Given the description of an element on the screen output the (x, y) to click on. 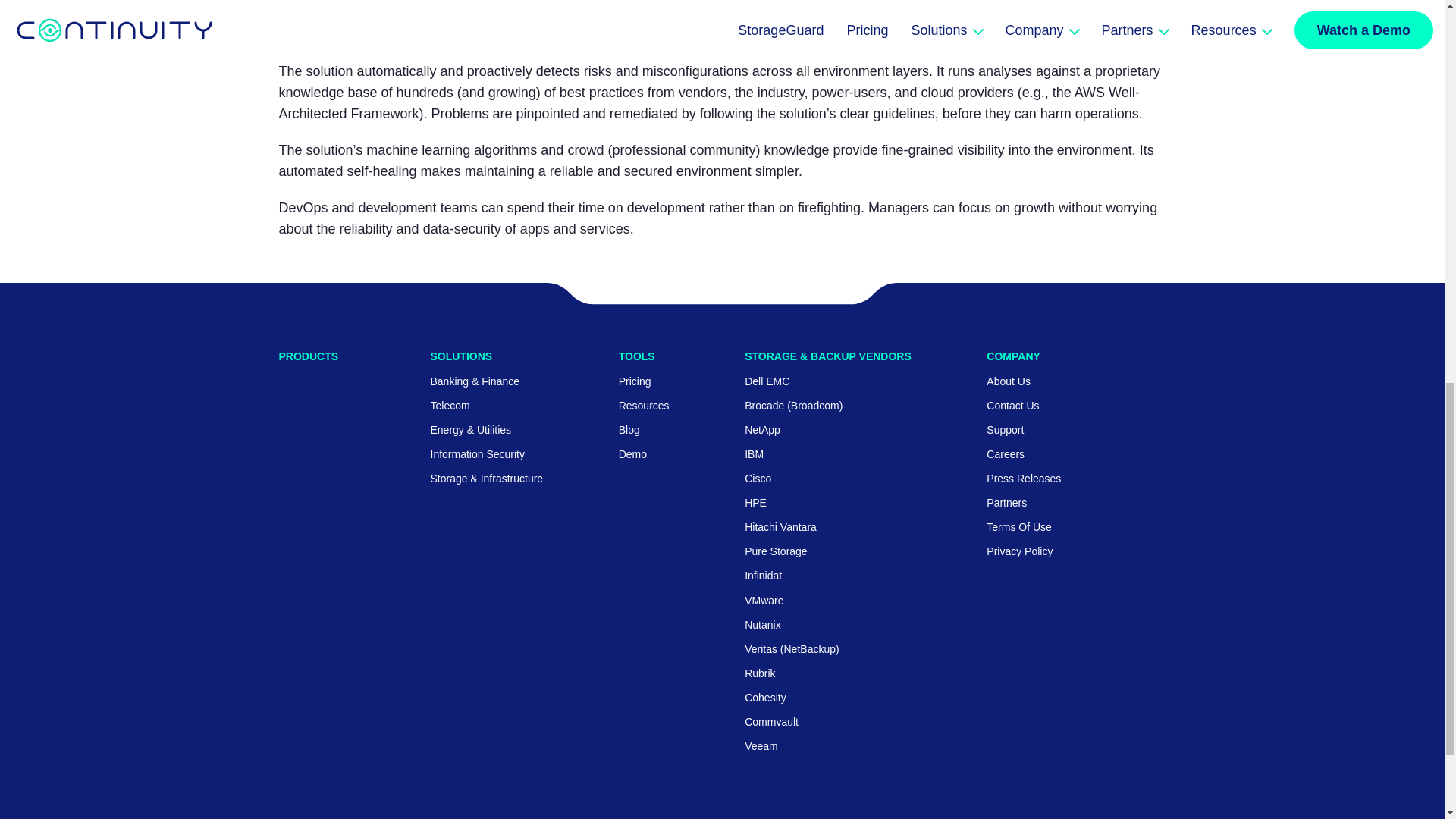
Telecom (450, 405)
Blog (629, 429)
Pricing (634, 381)
Resources (643, 405)
Information Security (477, 453)
